Given the description of an element on the screen output the (x, y) to click on. 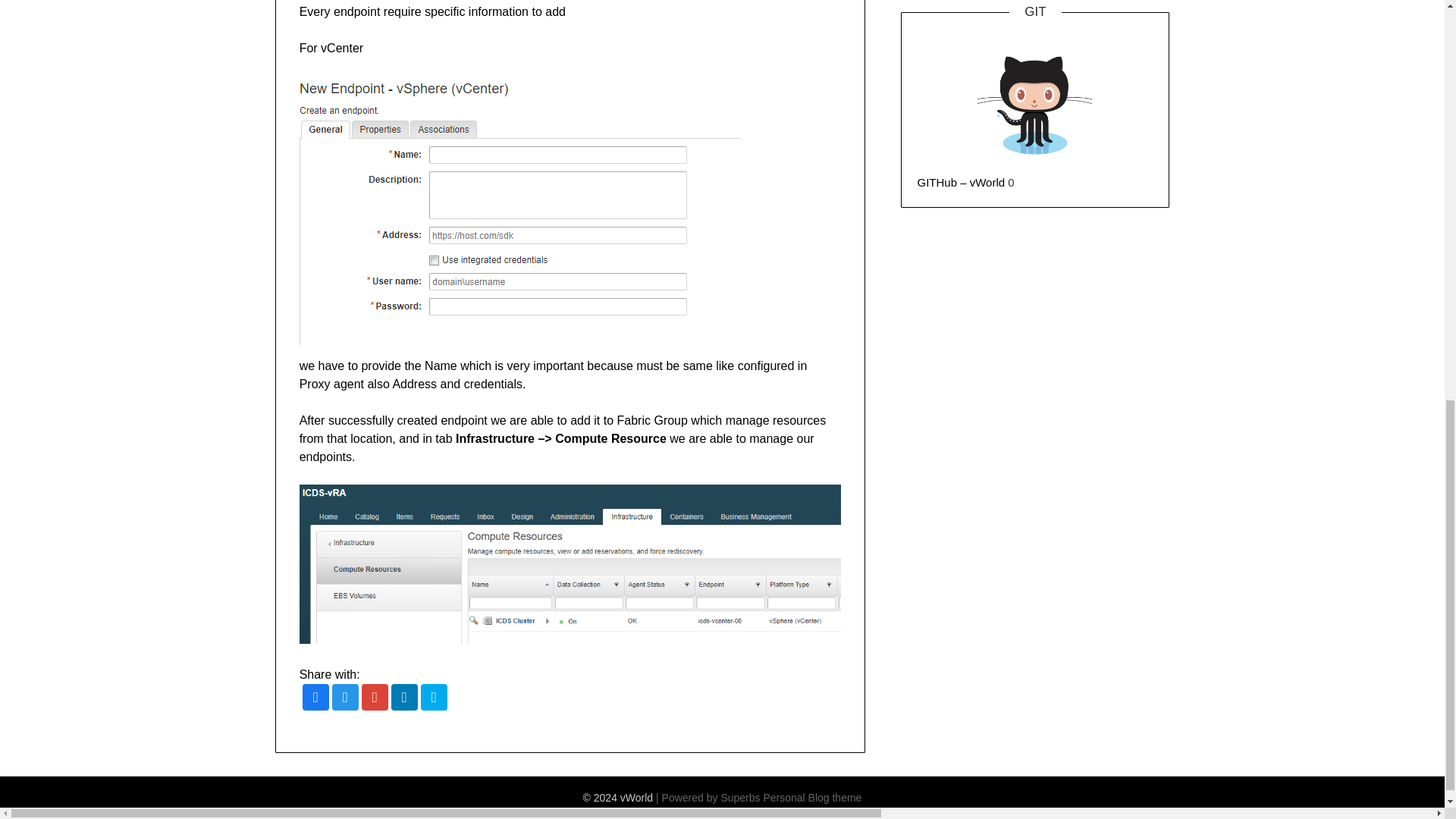
facebook (315, 697)
mail (433, 697)
twitter (344, 697)
Personal Blog theme (811, 797)
google (374, 697)
linkedin (404, 697)
